Given the description of an element on the screen output the (x, y) to click on. 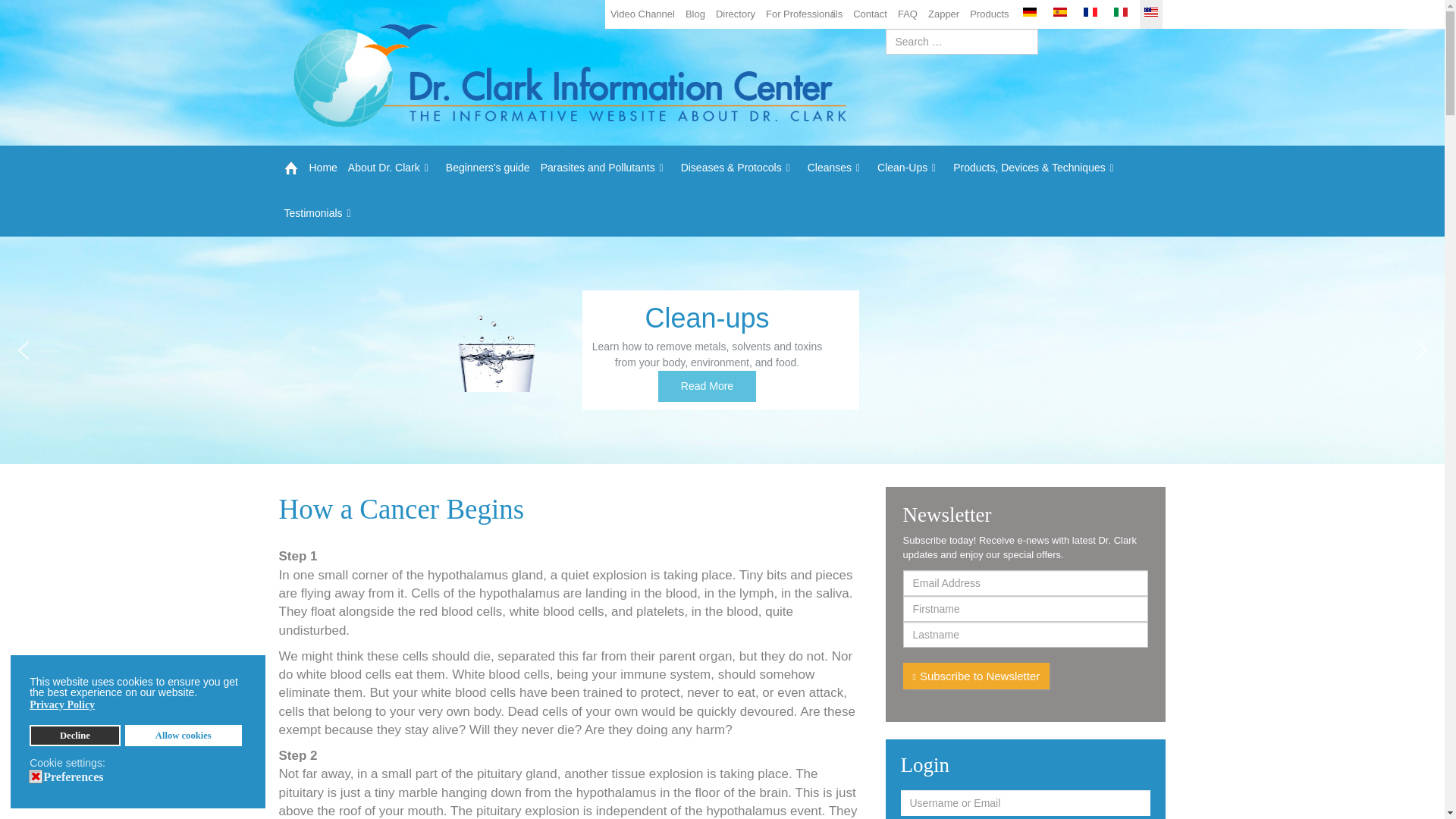
Parasites and Pollutants (605, 167)
Zapper (943, 14)
Decline (74, 735)
Video Channel (642, 14)
Allow cookies (183, 735)
Directory (735, 14)
FAQ (907, 14)
For Professionals (803, 14)
Privacy Policy (63, 704)
Blog (694, 14)
About Dr. Clark (391, 167)
Products (988, 14)
Home (310, 167)
Beginners's guide (488, 167)
